Given the description of an element on the screen output the (x, y) to click on. 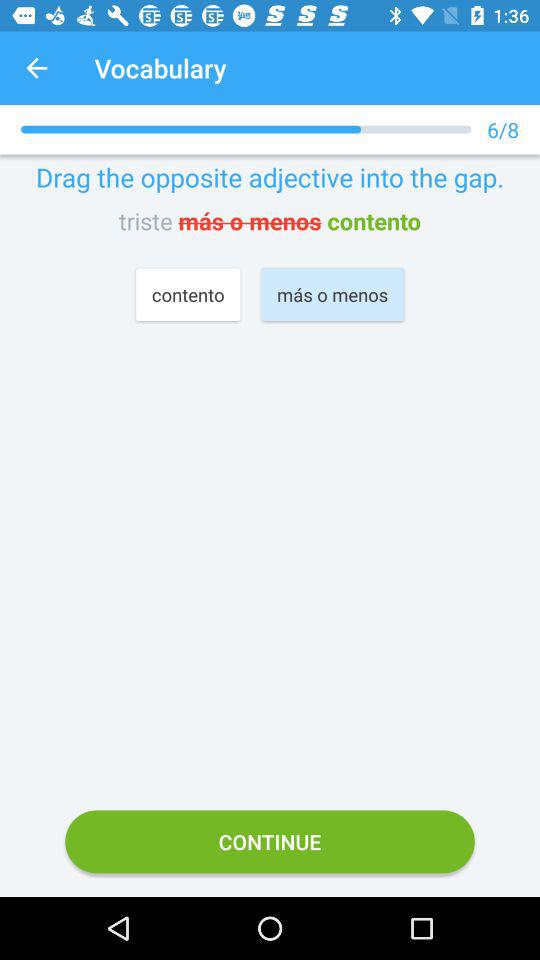
tap item next to vocabulary (36, 68)
